Given the description of an element on the screen output the (x, y) to click on. 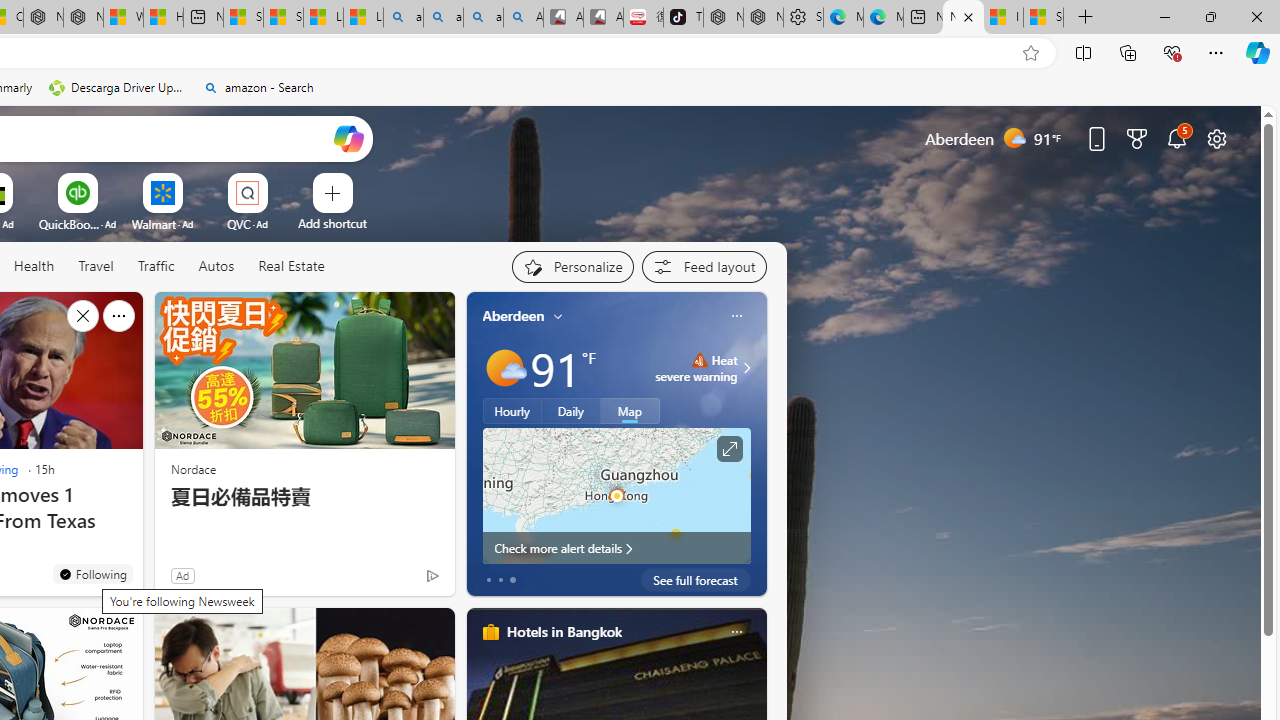
Open Copilot (347, 138)
Nordace - Summer Adventures 2024 (83, 17)
TikTok (683, 17)
Ad Choice (432, 575)
Real Estate (290, 267)
Nordace Siena Pro 15 Backpack (763, 17)
You're following Newsweek (92, 573)
Hide this story (82, 315)
Page settings (1216, 138)
tab-2 (511, 579)
tab-1 (500, 579)
